Given the description of an element on the screen output the (x, y) to click on. 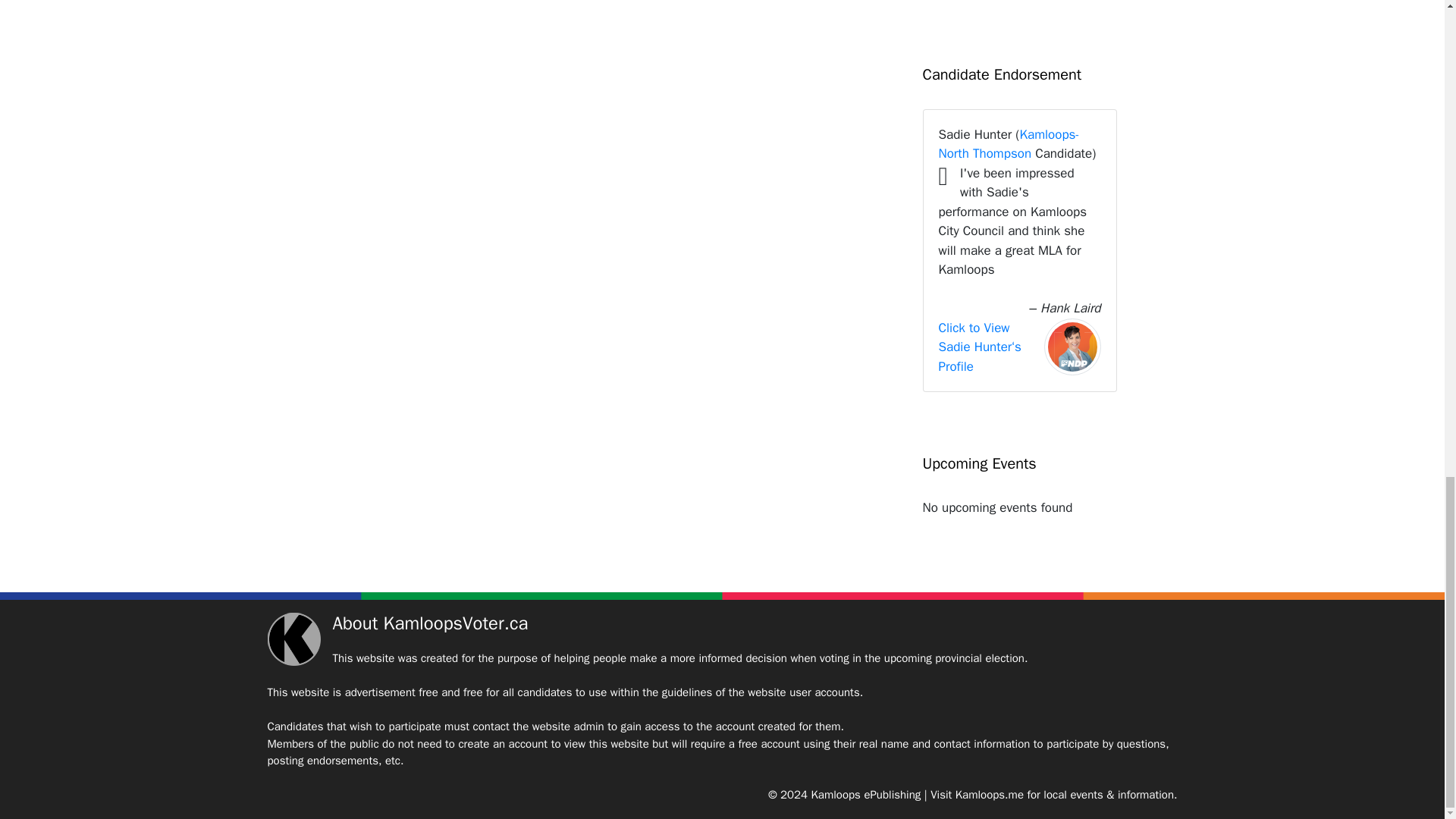
Scroll back to top (1406, 385)
